Given the description of an element on the screen output the (x, y) to click on. 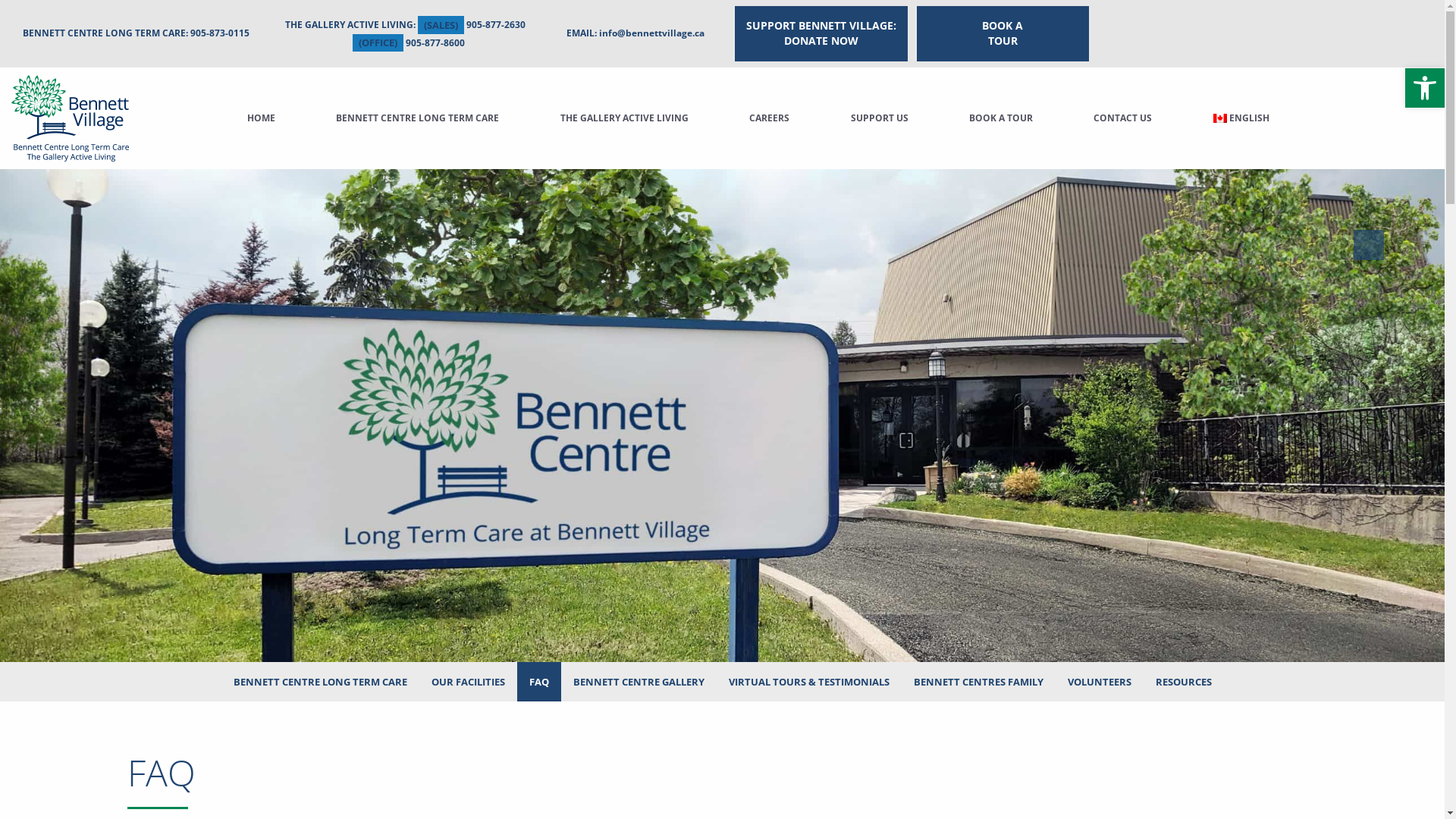
ENGLISH Element type: text (1241, 118)
CAREERS Element type: text (769, 118)
VIRTUAL TOURS & TESTIMONIALS Element type: text (807, 681)
SUPPORT US Element type: text (879, 118)
905-877-2630 Element type: text (494, 24)
BENNETT CENTRE LONG TERM CARE Element type: text (320, 681)
905-873-0115 Element type: text (219, 32)
info@bennettvillage.ca Element type: text (651, 32)
BOOK A TOUR Element type: text (1000, 118)
Open toolbar
Accessibility Tools Element type: text (1424, 87)
VOLUNTEERS Element type: text (1099, 681)
OUR FACILITIES Element type: text (467, 681)
THE GALLERY ACTIVE LIVING Element type: text (624, 118)
RESOURCES Element type: text (1183, 681)
905-877-8600 Element type: text (434, 42)
CONTACT US Element type: text (1122, 118)
BENNETT CENTRES FAMILY Element type: text (977, 681)
FAQ Element type: text (539, 681)
SUPPORT BENNETT VILLAGE: DONATE NOW Element type: text (819, 33)
BENNETT CENTRE LONG TERM CARE Element type: text (416, 118)
BOOK A
TOUR Element type: text (1001, 33)
HOME Element type: text (261, 118)
BENNETT CENTRE GALLERY Element type: text (638, 681)
